Given the description of an element on the screen output the (x, y) to click on. 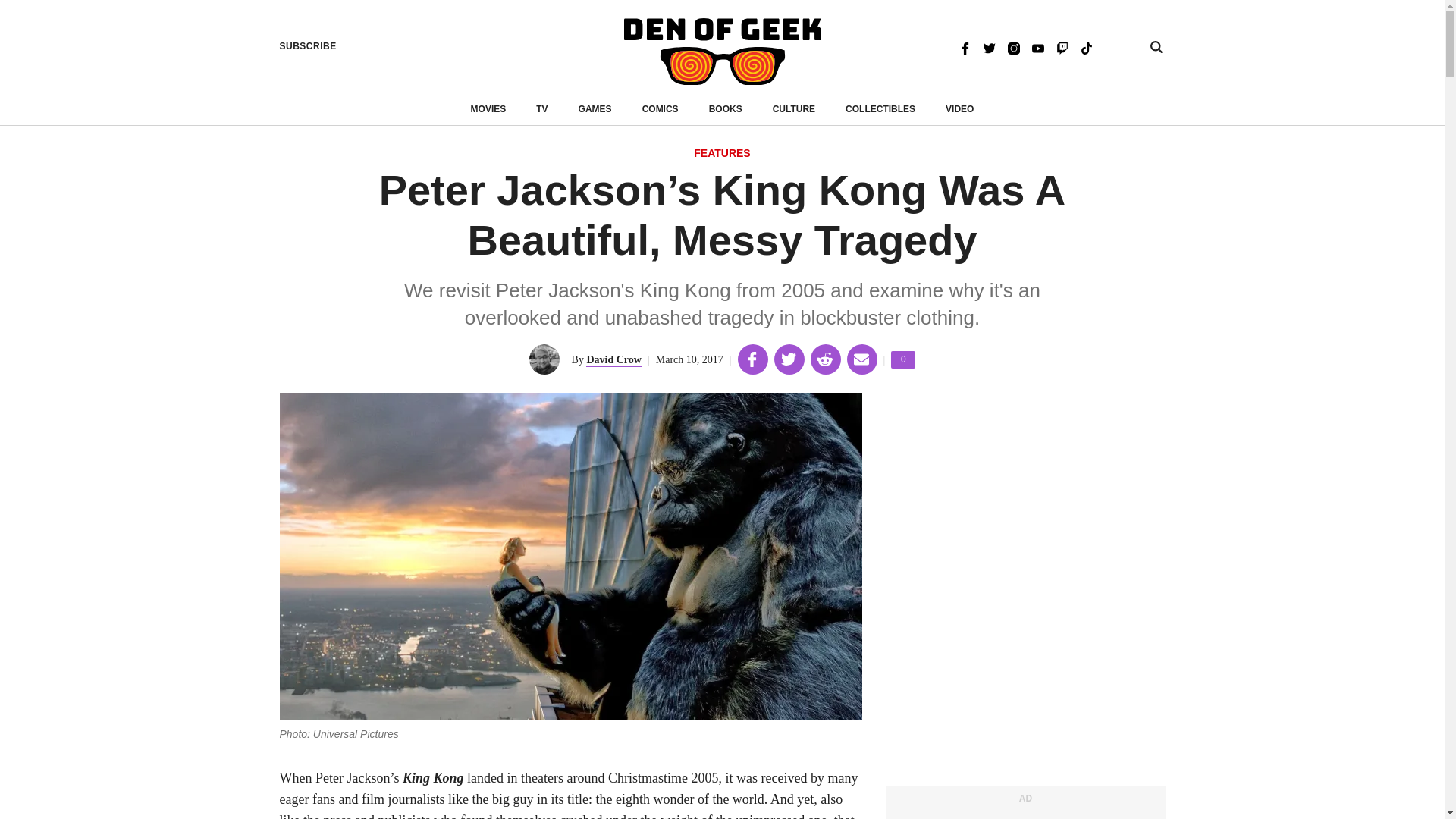
David Crow (613, 359)
COLLECTIBLES (880, 109)
MOVIES (488, 109)
Twitter (988, 46)
FEATURES (721, 153)
GAMES (594, 109)
BOOKS (725, 109)
TikTok (1085, 46)
COMICS (660, 109)
Den of Geek (722, 52)
